Given the description of an element on the screen output the (x, y) to click on. 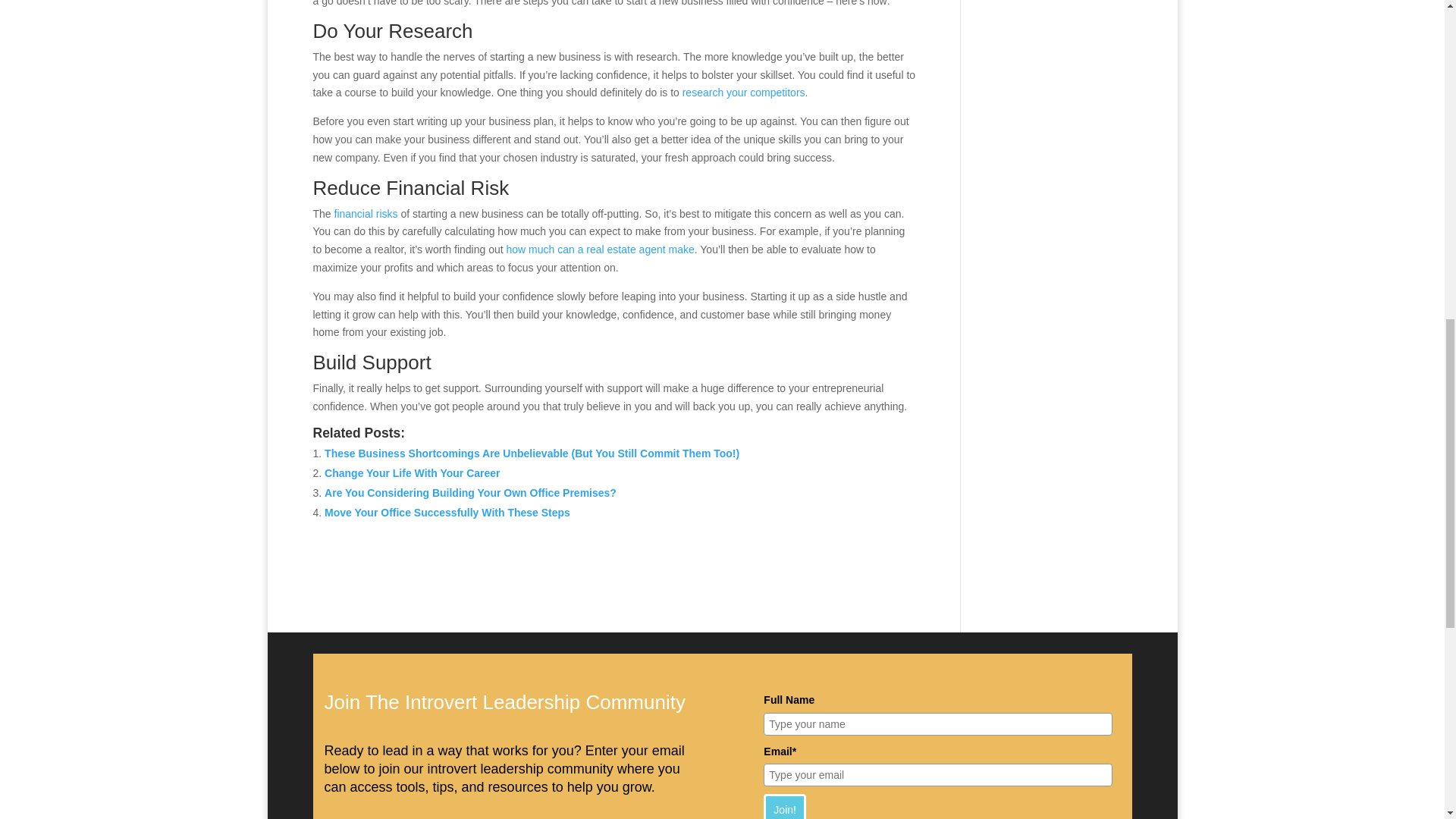
Change Your Life With Your Career (411, 472)
Are You Considering Building Your Own Office Premises? (469, 492)
Join! (784, 806)
research your competitors (743, 92)
Are You Considering Building Your Own Office Premises? (469, 492)
Change Your Life With Your Career (411, 472)
Move Your Office Successfully With These Steps (447, 512)
Move Your Office Successfully With These Steps (447, 512)
how much can a real estate agent make (600, 249)
financial risks (367, 214)
